Given the description of an element on the screen output the (x, y) to click on. 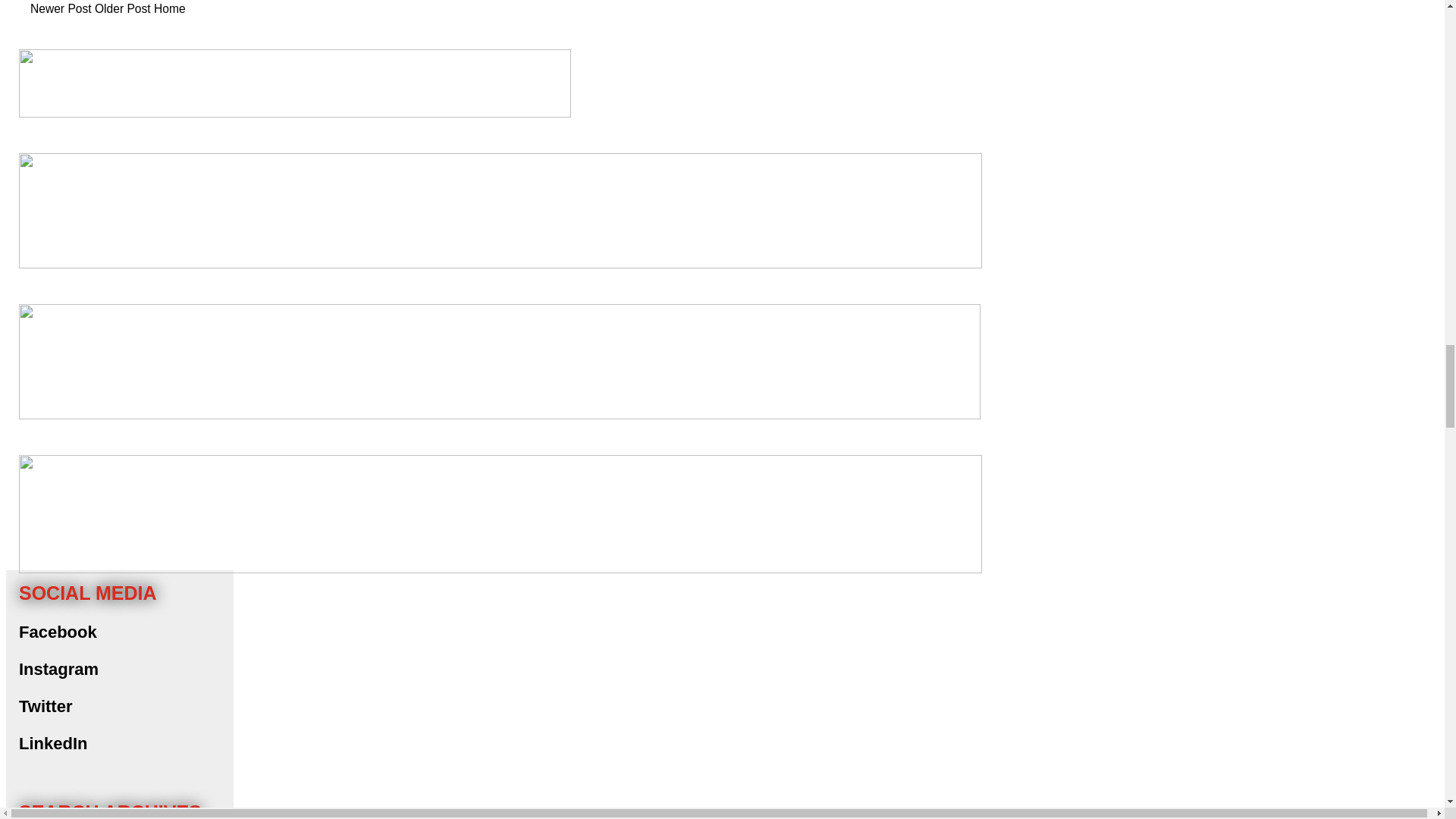
Older Post (122, 8)
Newer Post (60, 8)
Facebook (57, 631)
Newer Post (60, 8)
Home (170, 8)
Older Post (122, 8)
LinkedIn (52, 742)
Instagram (58, 669)
Twitter (44, 705)
